Given the description of an element on the screen output the (x, y) to click on. 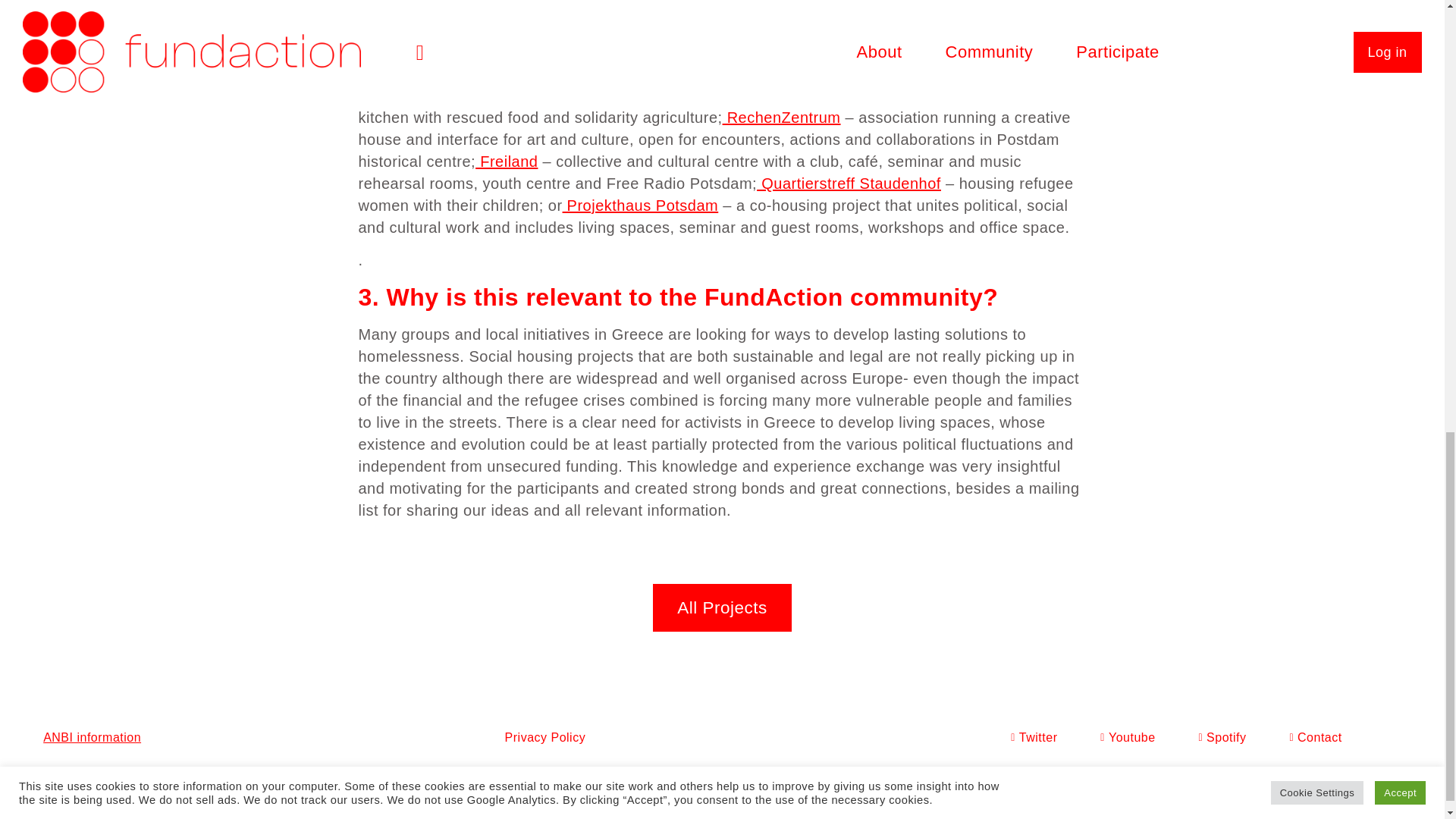
Amalia (623, 780)
Madia (942, 95)
Twitter (1029, 737)
DigitalFems (565, 780)
All Projects (722, 607)
Privacy Policy (545, 737)
Spotify (1217, 737)
Ethos (695, 2)
Projekthaus Potsdam (640, 205)
Freiland (506, 161)
Youtube (1122, 737)
ANBI information (92, 737)
Quartierstreff Staudenhof (848, 183)
RechenZentrum (781, 117)
Contact (1311, 737)
